Given the description of an element on the screen output the (x, y) to click on. 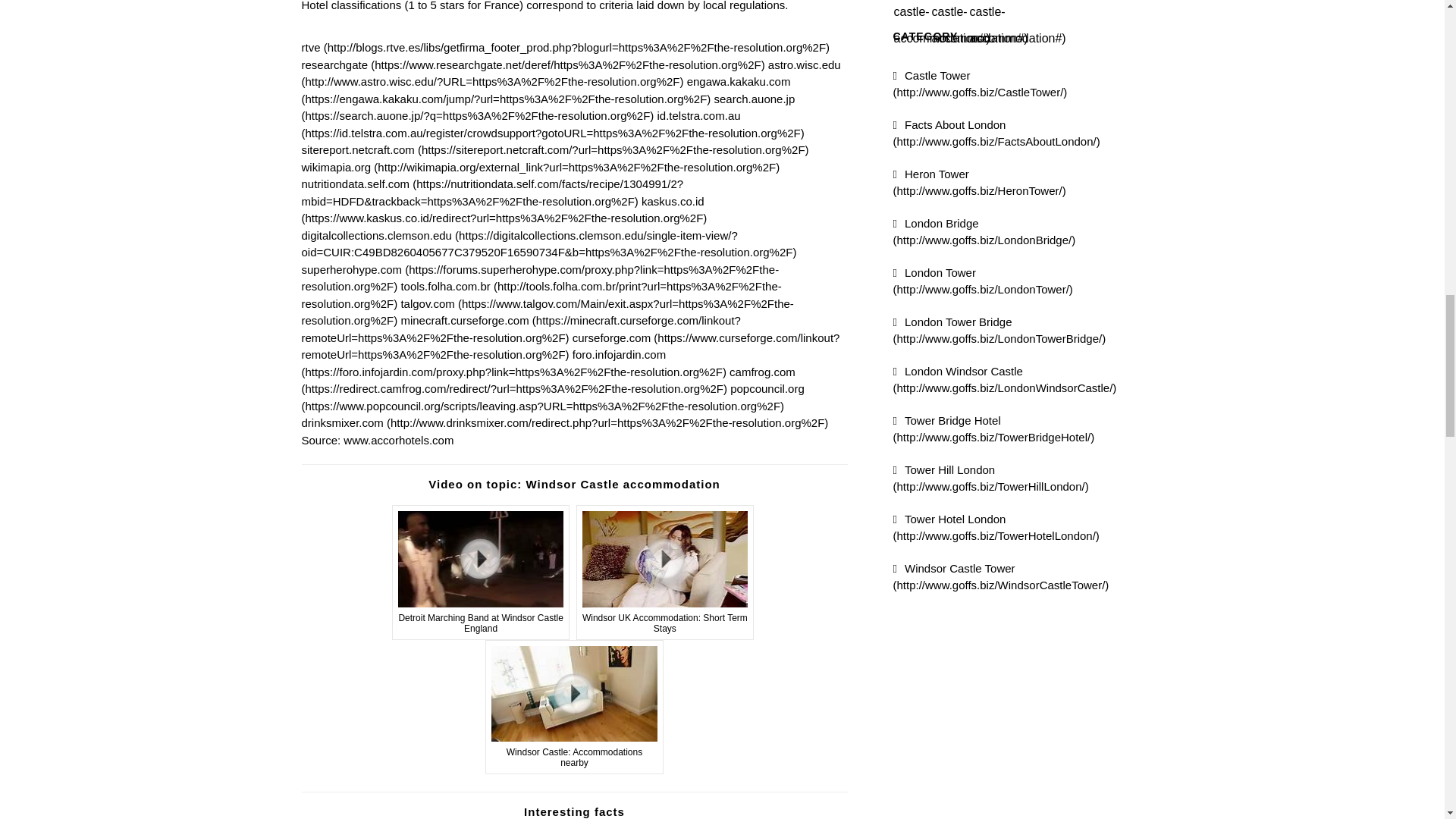
search.auone.jp (547, 107)
foro.infojardin.com (513, 363)
talgov.com (547, 312)
View all posts filed under London Tower Bridge (999, 330)
id.telstra.com.au (553, 123)
nutritiondata.self.com (492, 192)
researchgate (533, 64)
superherohype.com (539, 277)
minecraft.curseforge.com (521, 328)
curseforge.com (570, 346)
